Given the description of an element on the screen output the (x, y) to click on. 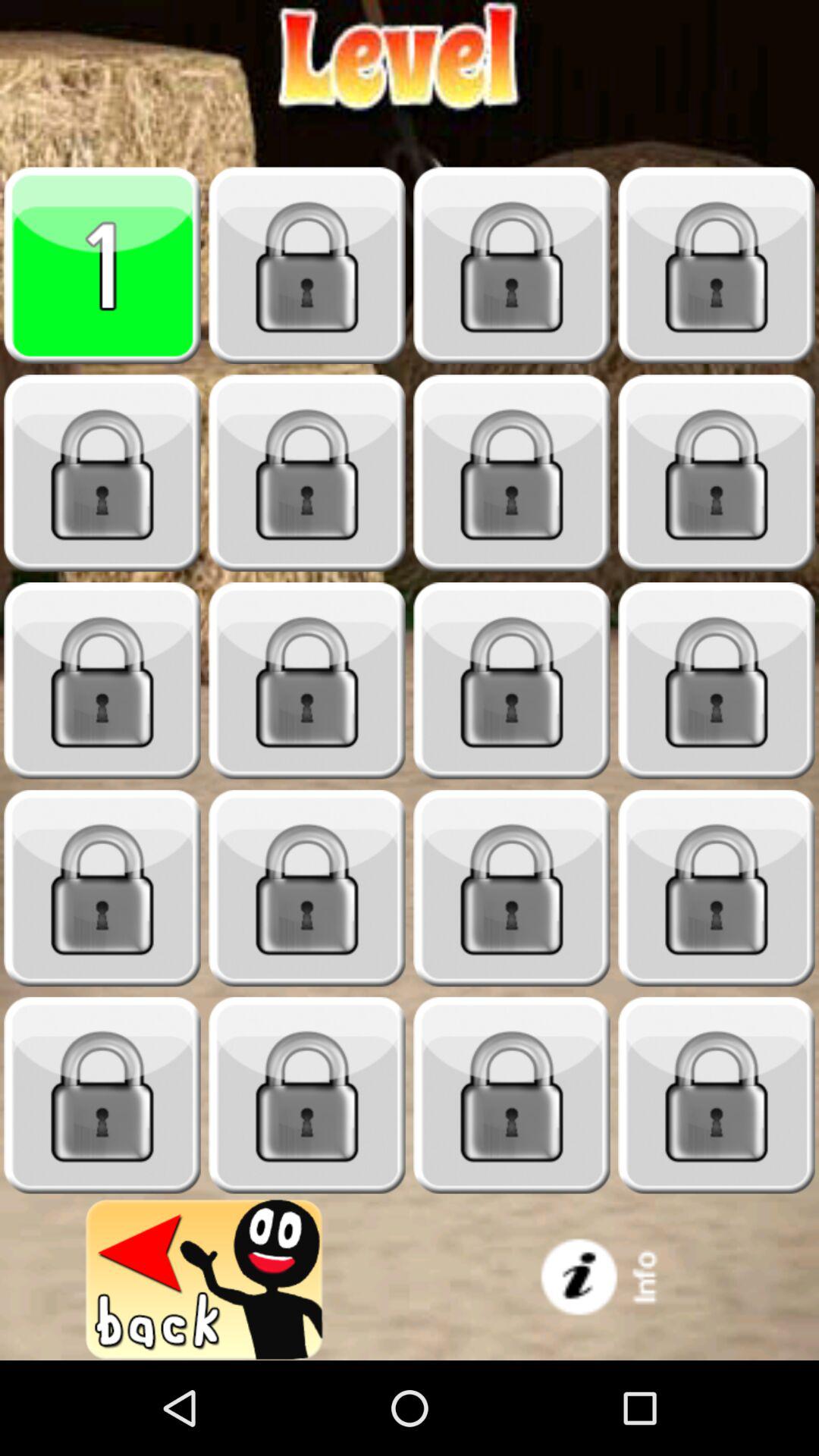
advertisement image (614, 1279)
